Given the description of an element on the screen output the (x, y) to click on. 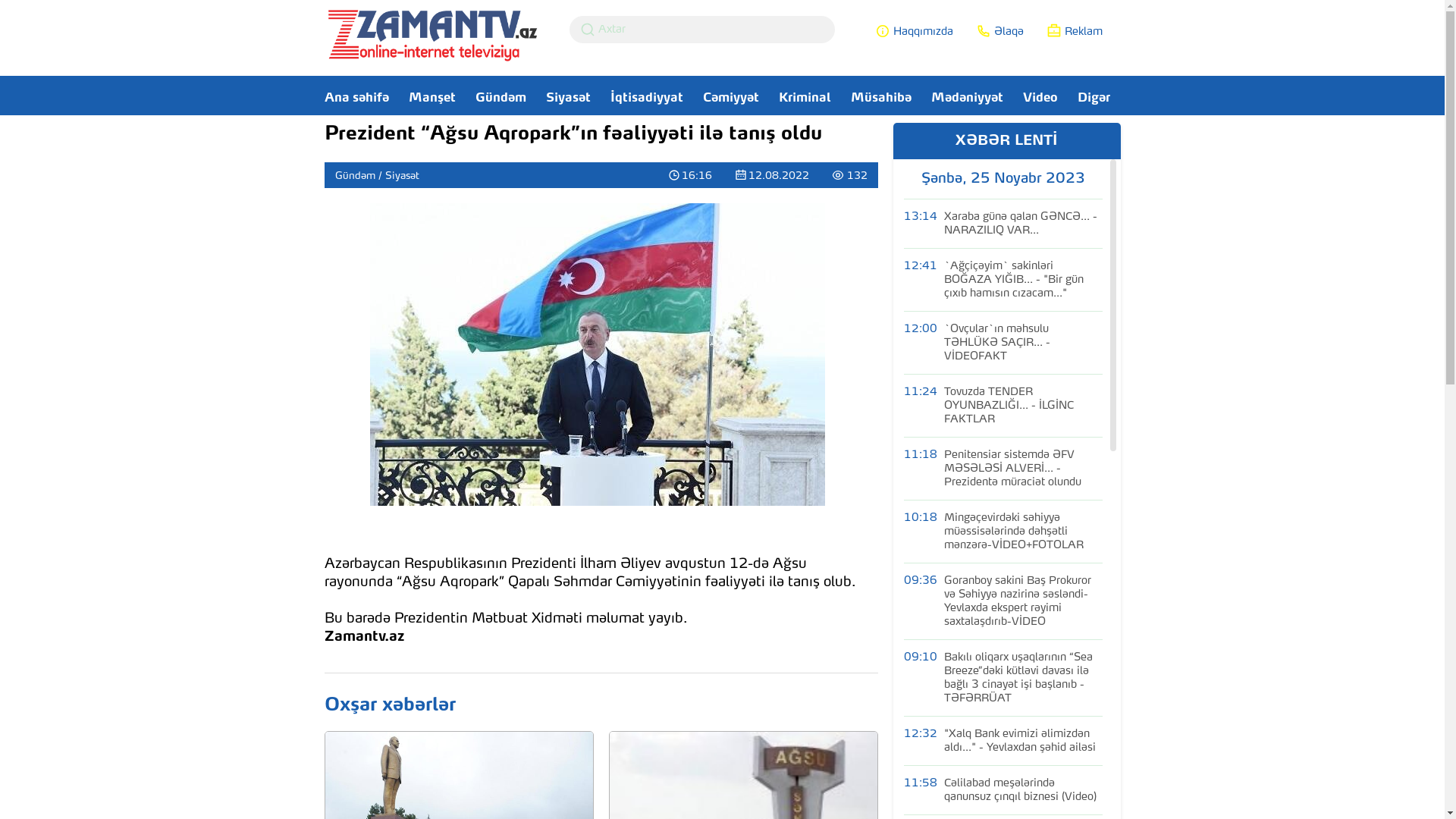
Reklam Element type: text (1074, 30)
Video Element type: text (1032, 100)
Kriminal Element type: text (797, 100)
